Given the description of an element on the screen output the (x, y) to click on. 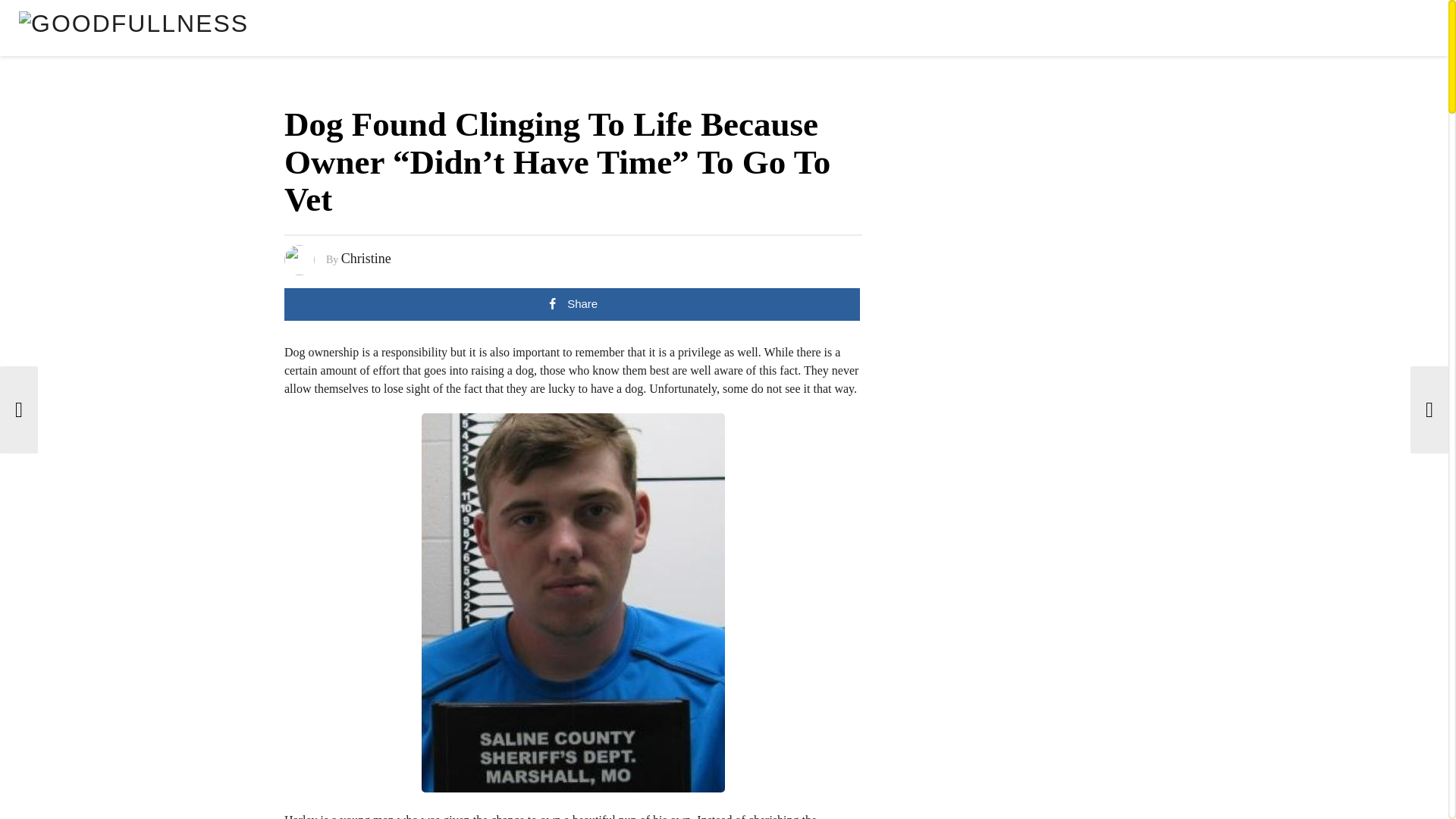
ENTERTAINMENT (1250, 32)
HEALTH (1401, 32)
DIY (1317, 32)
SHOP (1116, 32)
LIFE (1353, 32)
Share (571, 304)
Christine (365, 257)
ANIMALS (1167, 32)
